Given the description of an element on the screen output the (x, y) to click on. 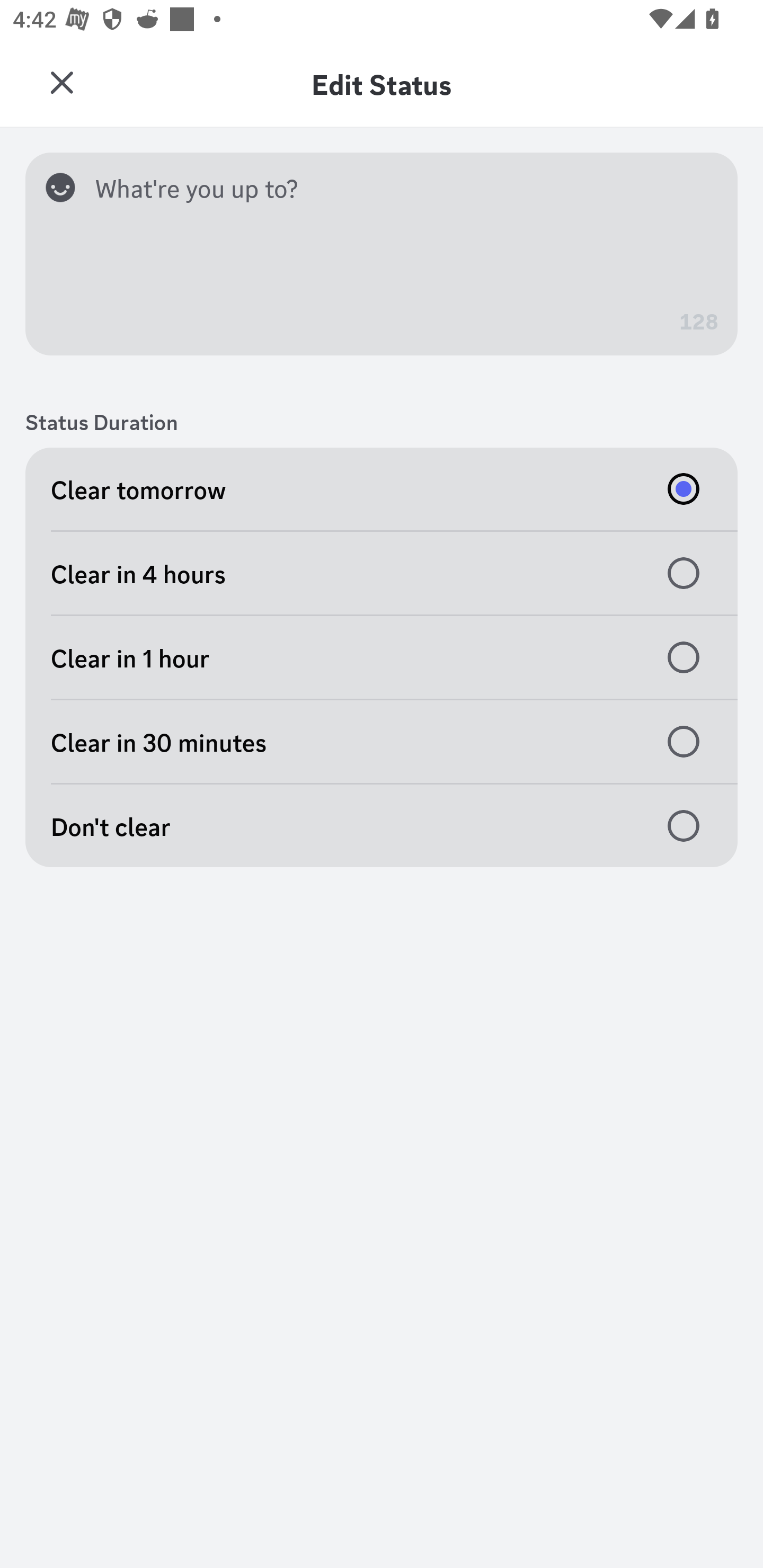
Close (61, 82)
Select Custom Status Emoji (66, 186)
Clear tomorrow (381, 487)
Clear in 4 hours (381, 572)
Clear in 1 hour (381, 657)
Clear in 30 minutes (381, 741)
Don't clear (381, 825)
